Given the description of an element on the screen output the (x, y) to click on. 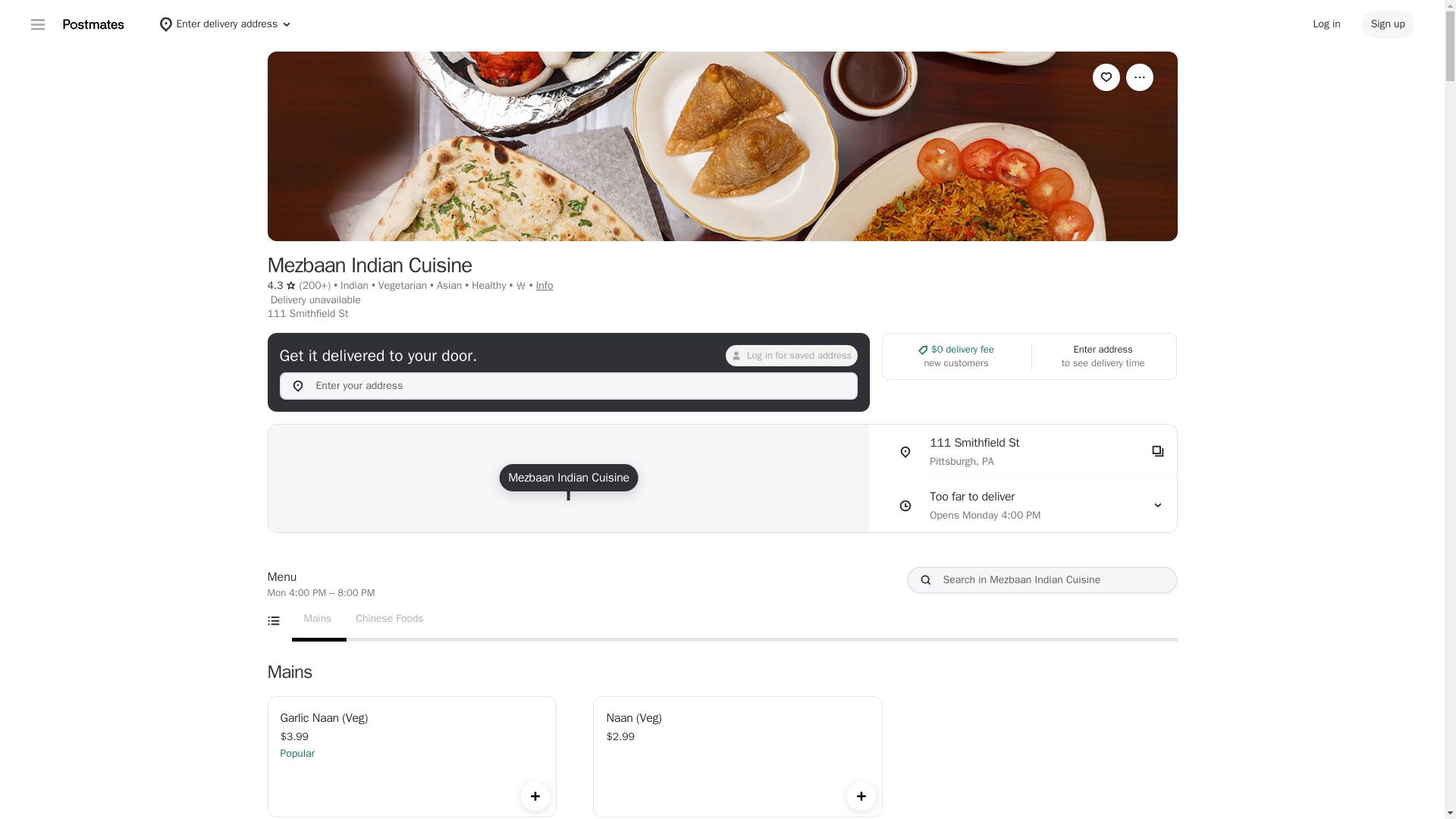
Add to favorites (1105, 76)
View more options (1139, 76)
